Given the description of an element on the screen output the (x, y) to click on. 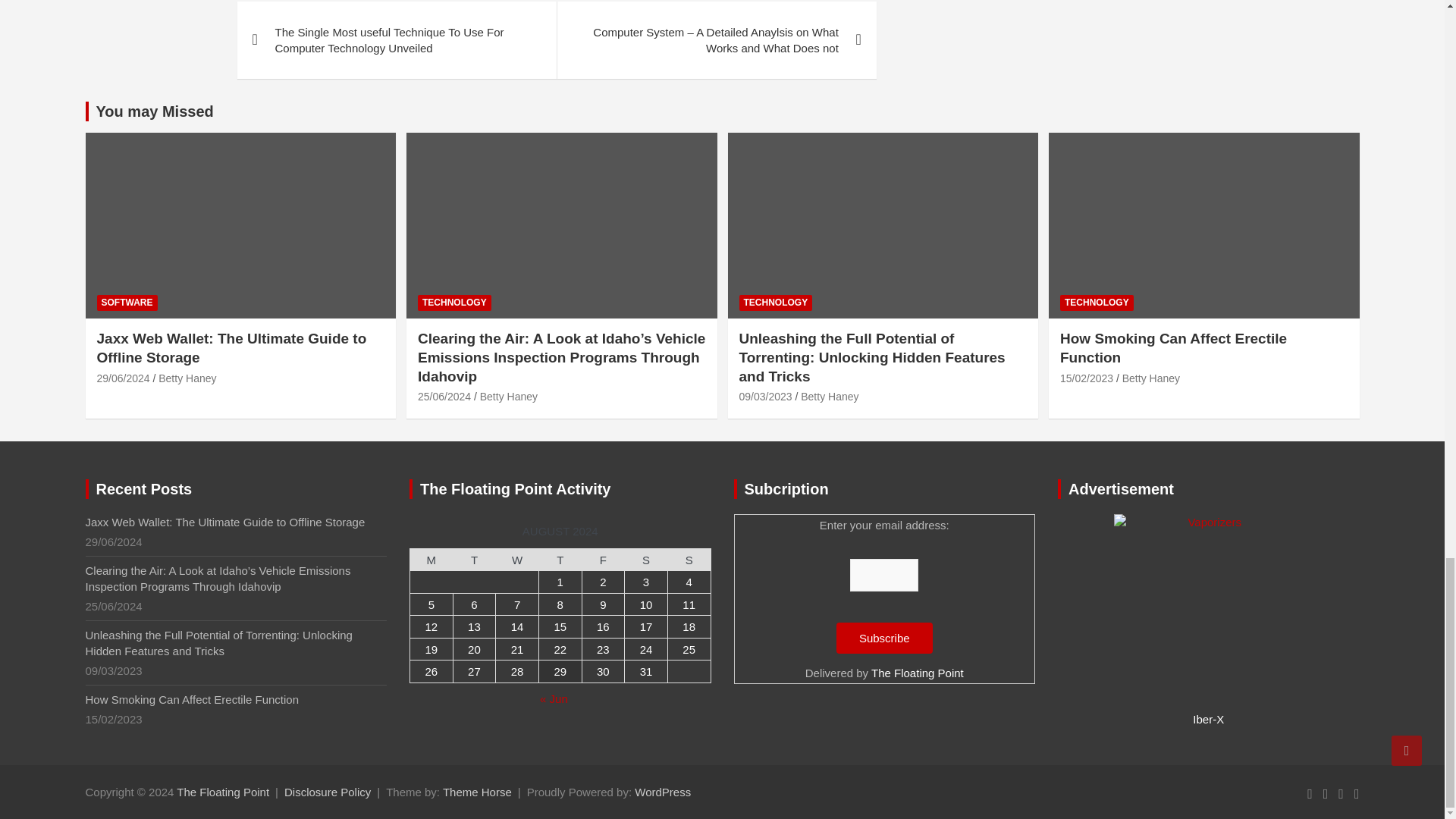
Subscribe (884, 637)
Monday (430, 558)
Thursday (559, 558)
How Smoking Can Affect Erectile Function (1086, 378)
Tuesday (474, 558)
Jaxx Web Wallet: The Ultimate Guide to Offline Storage (123, 378)
Wednesday (517, 558)
